Given the description of an element on the screen output the (x, y) to click on. 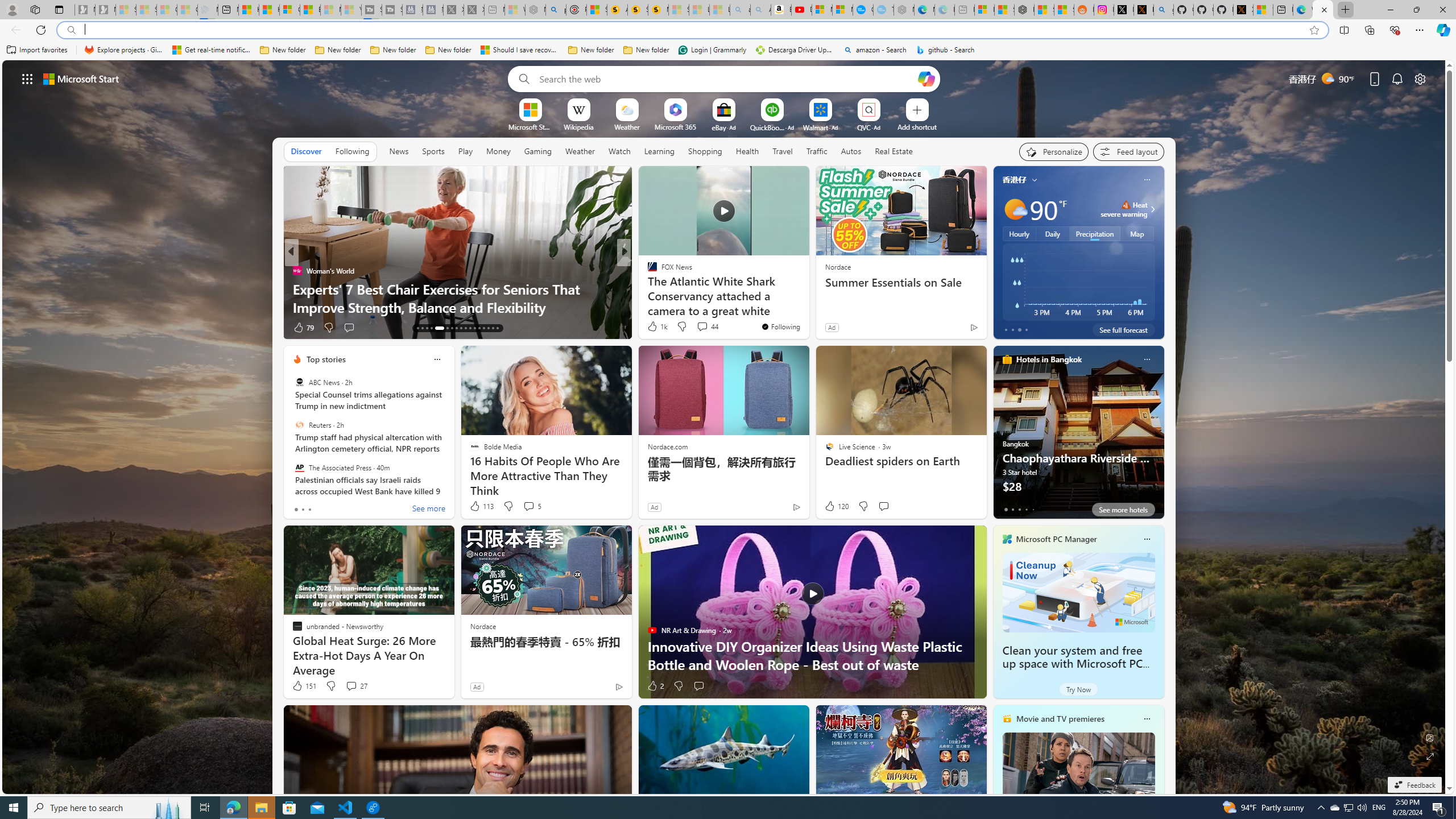
Descarga Driver Updater (794, 49)
Sports (432, 151)
poe - Search (555, 9)
Movie and TV premieres (1060, 718)
Money (497, 151)
View comments 4 Comment (702, 327)
Health (746, 151)
Reuters (299, 424)
Overview (289, 9)
Newsletter Sign Up - Sleeping (105, 9)
Dislike (678, 685)
Traffic (816, 151)
